Given the description of an element on the screen output the (x, y) to click on. 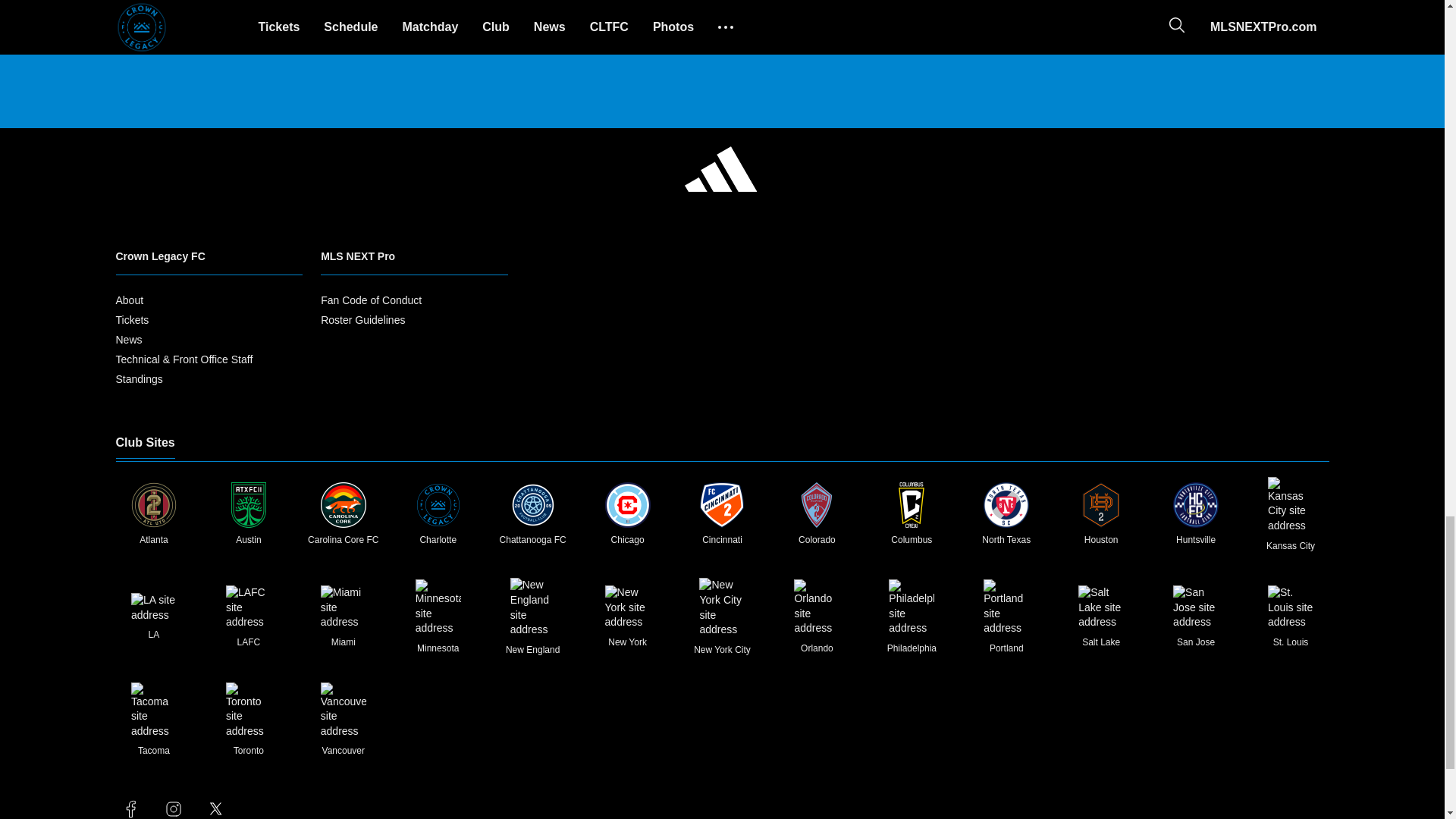
Link to Atlanta (153, 504)
Link to LA (153, 607)
Link to Columbus (911, 504)
Link to LAFC (247, 607)
Link to Miami (343, 607)
Link to Chicago (627, 504)
Link to North Texas (1006, 504)
Link to Huntsville (1195, 504)
Link to Colorado (816, 504)
Link to Austin (247, 504)
